Given the description of an element on the screen output the (x, y) to click on. 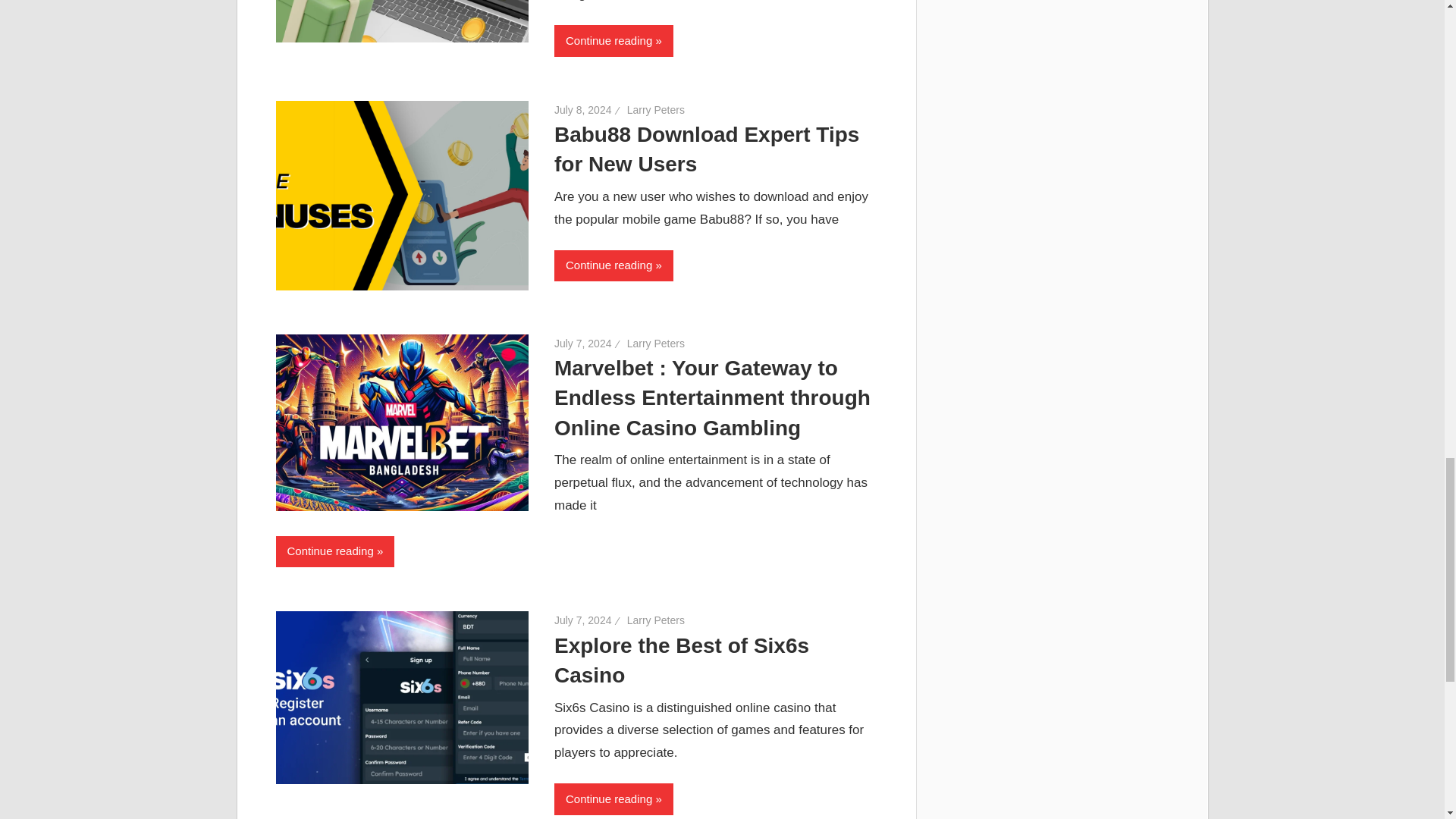
View all posts by Larry Peters (655, 343)
Continue reading (613, 40)
July 8, 2024 (582, 110)
View all posts by Larry Peters (655, 110)
6:16 am (582, 343)
4:59 am (582, 620)
4:56 am (582, 110)
Larry Peters (655, 110)
